Given the description of an element on the screen output the (x, y) to click on. 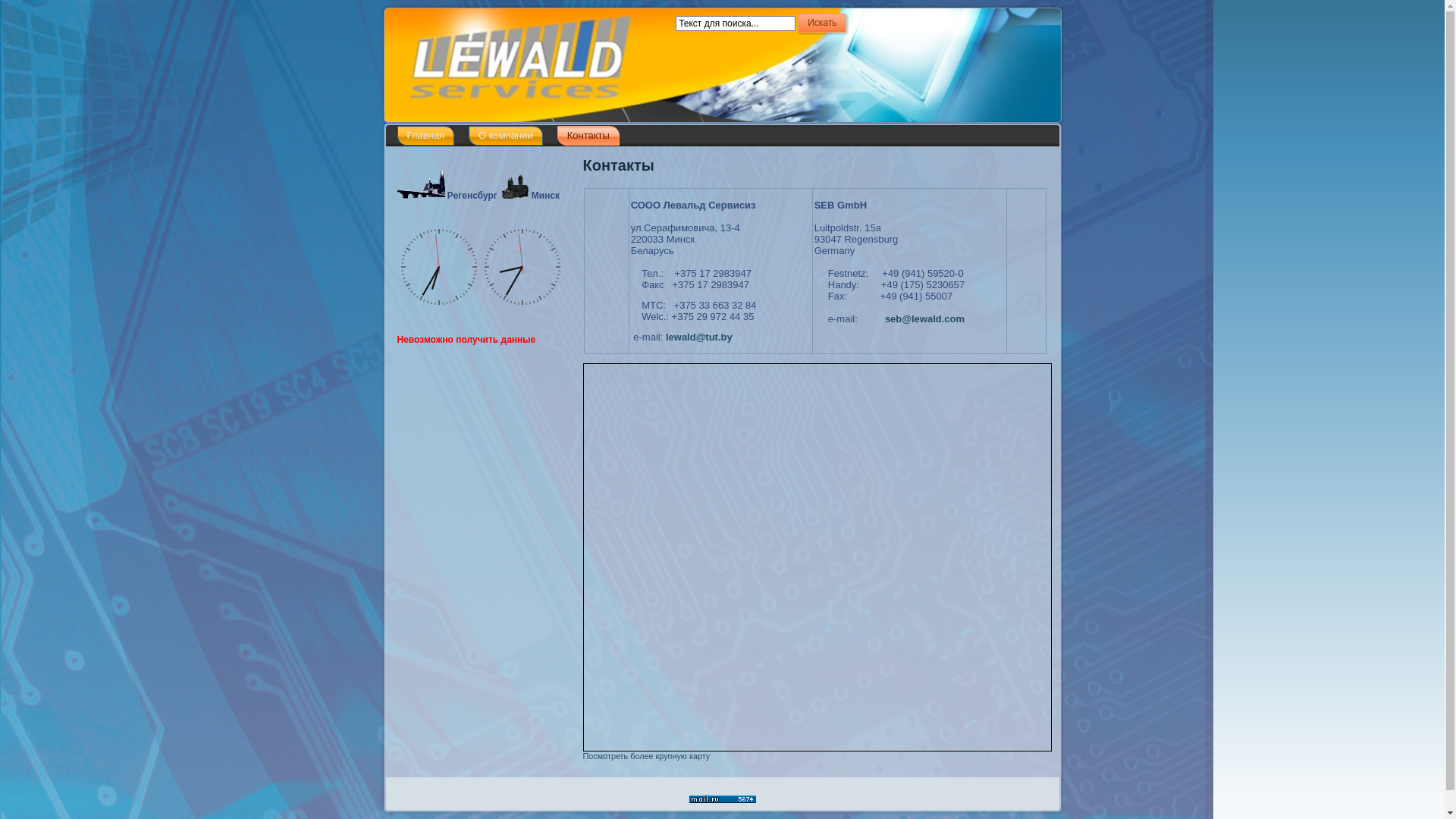
lewald@tut.by Element type: text (698, 336)
seb@lewald.com Element type: text (924, 318)
